Given the description of an element on the screen output the (x, y) to click on. 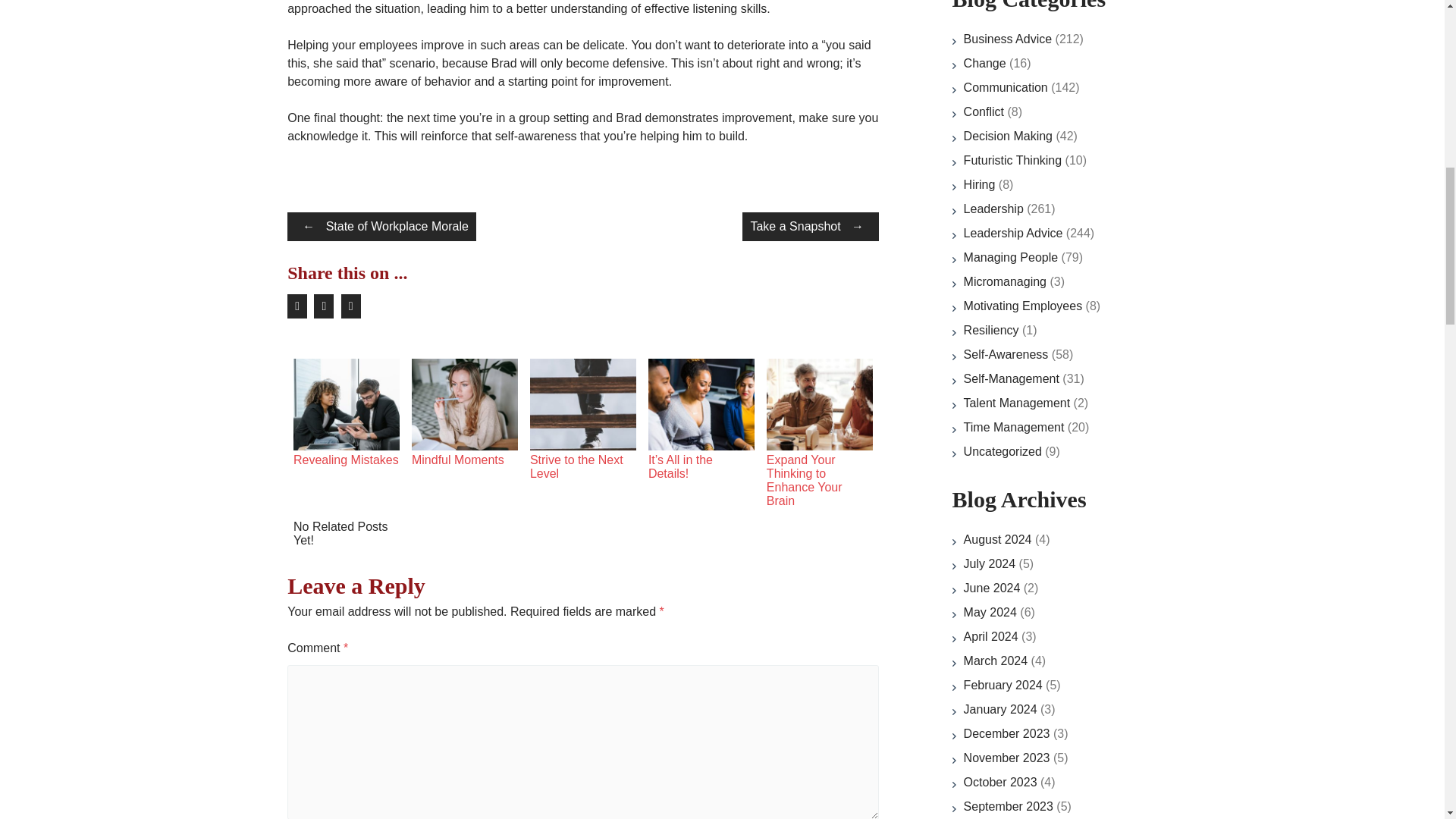
Mindful Moments (465, 445)
Strive to the Next Level (576, 466)
Expand Your Thinking to Enhance Your Brain (805, 479)
Revealing Mistakes (346, 459)
Mindful Moments (457, 459)
Expand Your Thinking to Enhance Your Brain (819, 445)
Revealing Mistakes (346, 445)
Strive to the Next Level (582, 445)
